Given the description of an element on the screen output the (x, y) to click on. 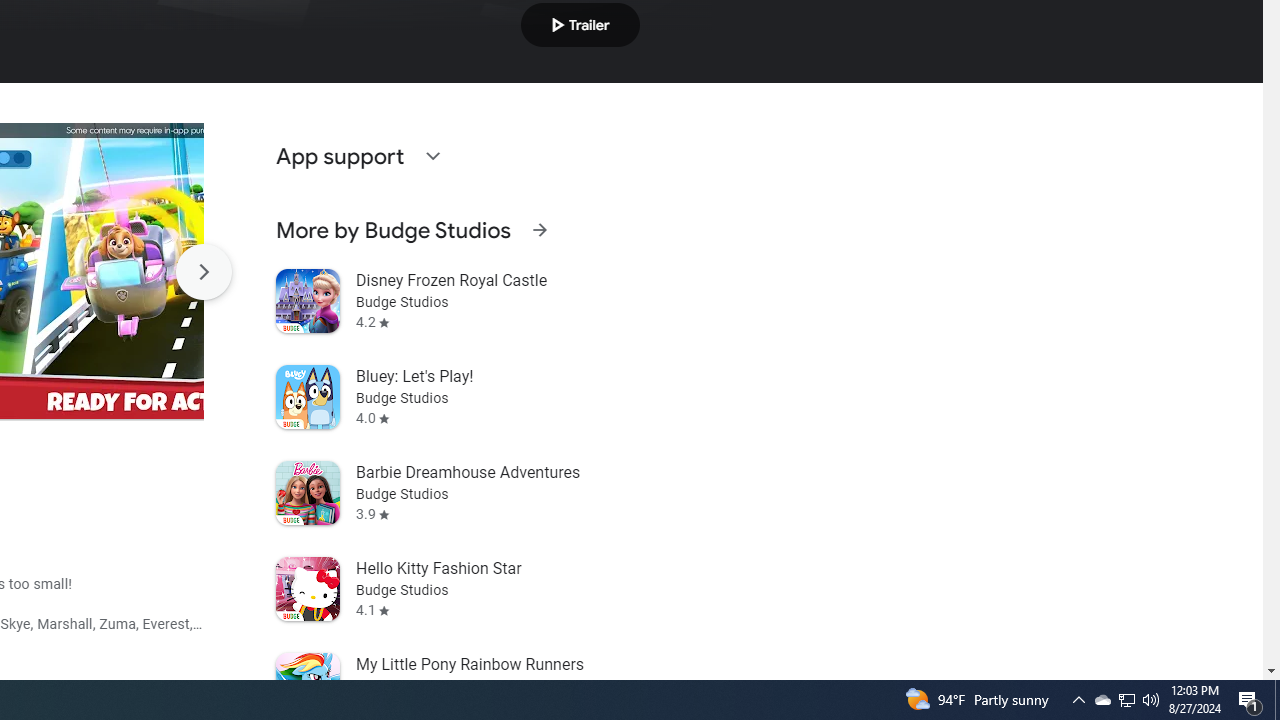
Scroll Next (203, 272)
Expand (432, 155)
See more information on More by Budge Studios (539, 229)
Play trailer (580, 24)
